Given the description of an element on the screen output the (x, y) to click on. 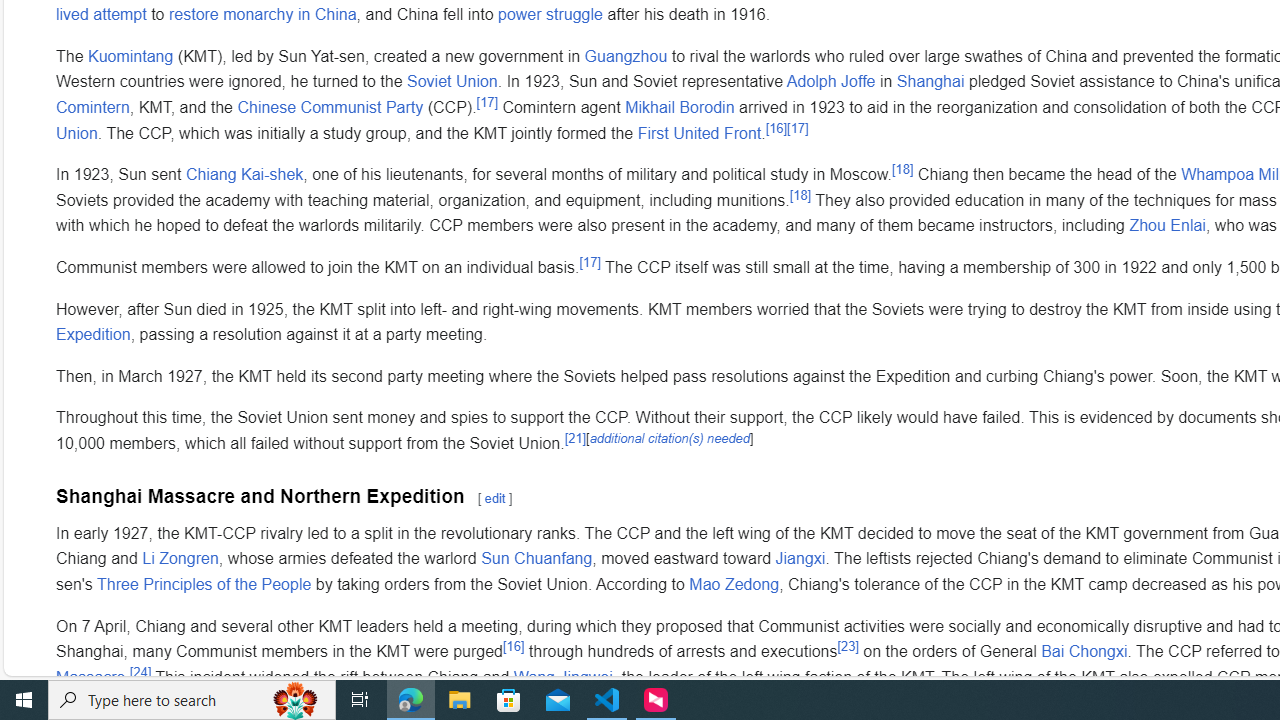
power struggle (549, 14)
Chiang Kai-shek (244, 175)
Adolph Joffe (830, 81)
[16] (513, 645)
Soviet Union (452, 81)
Kuomintang (131, 55)
[24] (140, 671)
Bai Chongxi (1083, 651)
Mikhail Borodin (679, 107)
Chinese Communist Party (329, 107)
Zhou Enlai (1166, 225)
Guangzhou (625, 55)
Sun Chuanfang (536, 559)
